Given the description of an element on the screen output the (x, y) to click on. 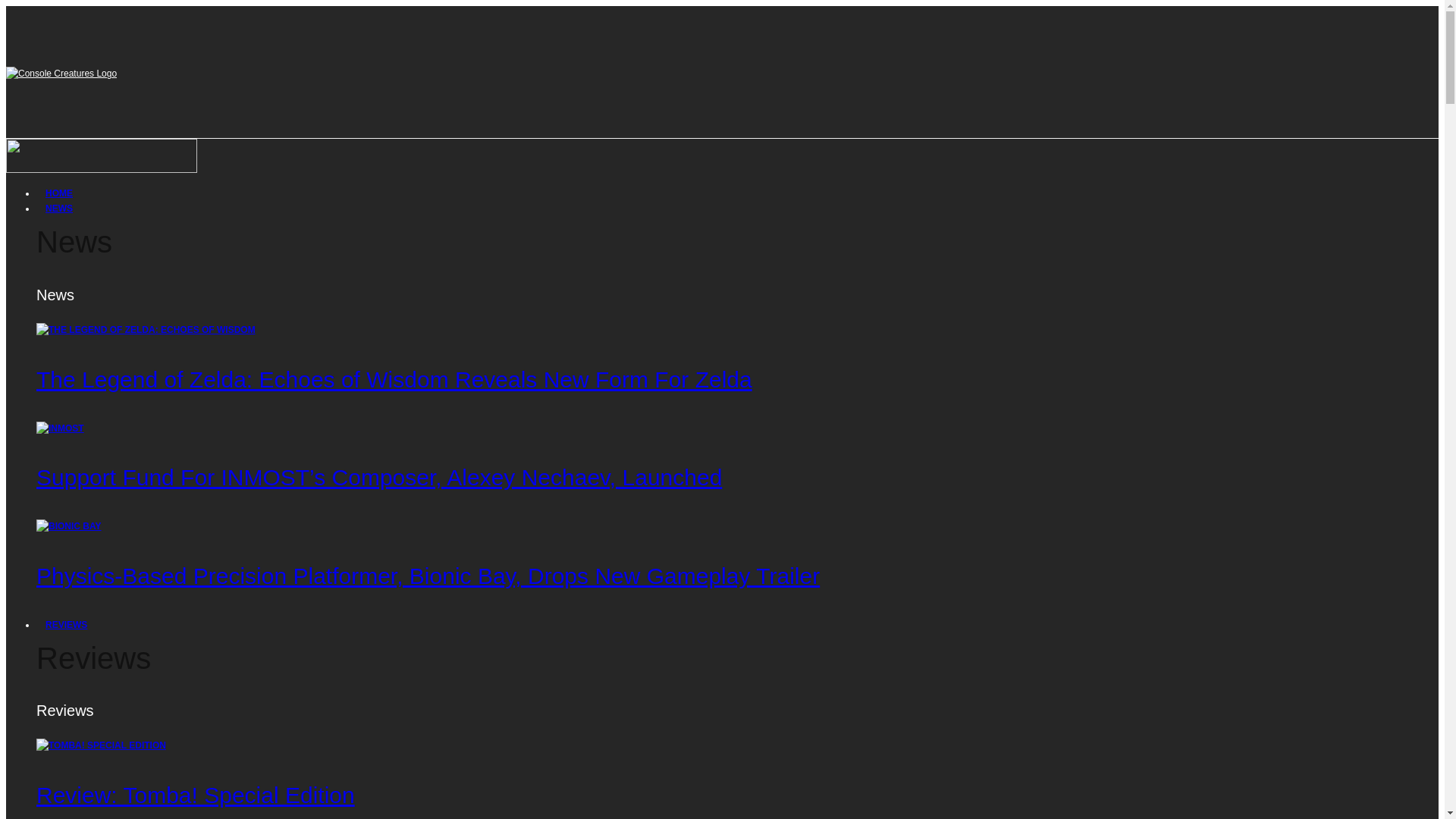
Review: Tomba! Special Edition (195, 794)
REVIEWS (66, 624)
NEWS (58, 208)
HOME (58, 192)
